Given the description of an element on the screen output the (x, y) to click on. 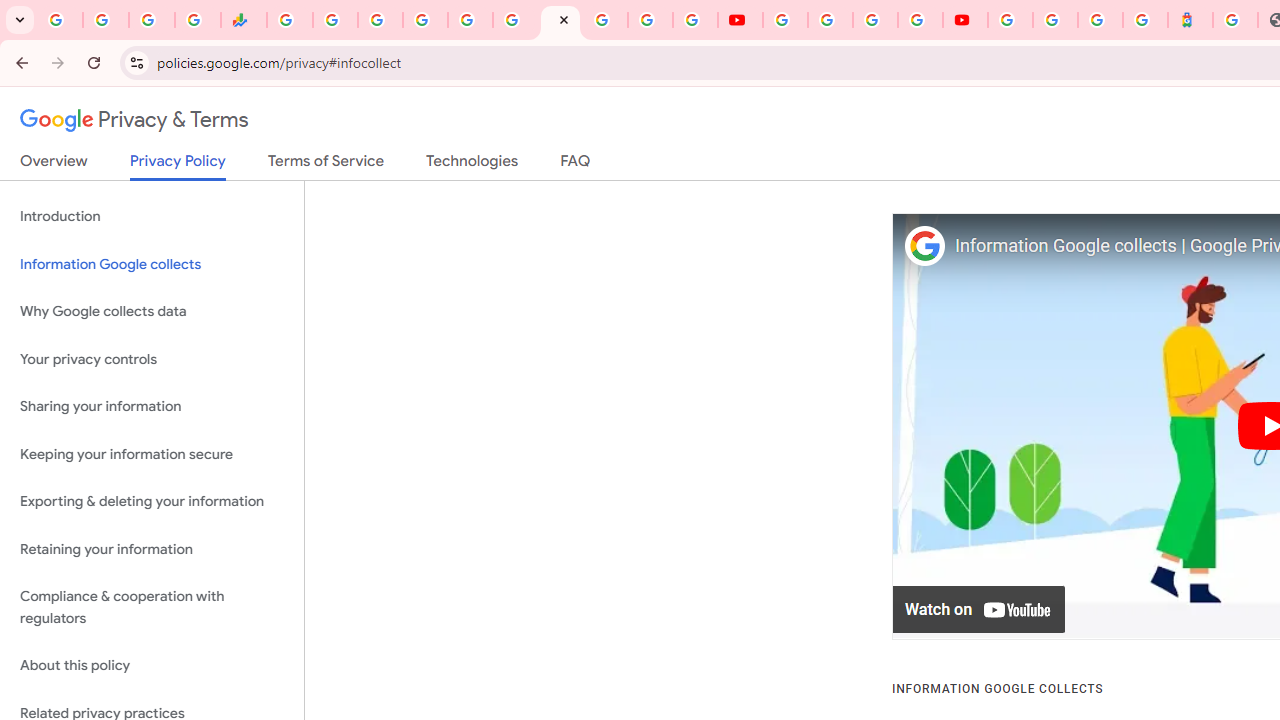
Sign in - Google Accounts (605, 20)
YouTube (740, 20)
FAQ (575, 165)
Create your Google Account (875, 20)
Overview (54, 165)
Retaining your information (152, 548)
